Given the description of an element on the screen output the (x, y) to click on. 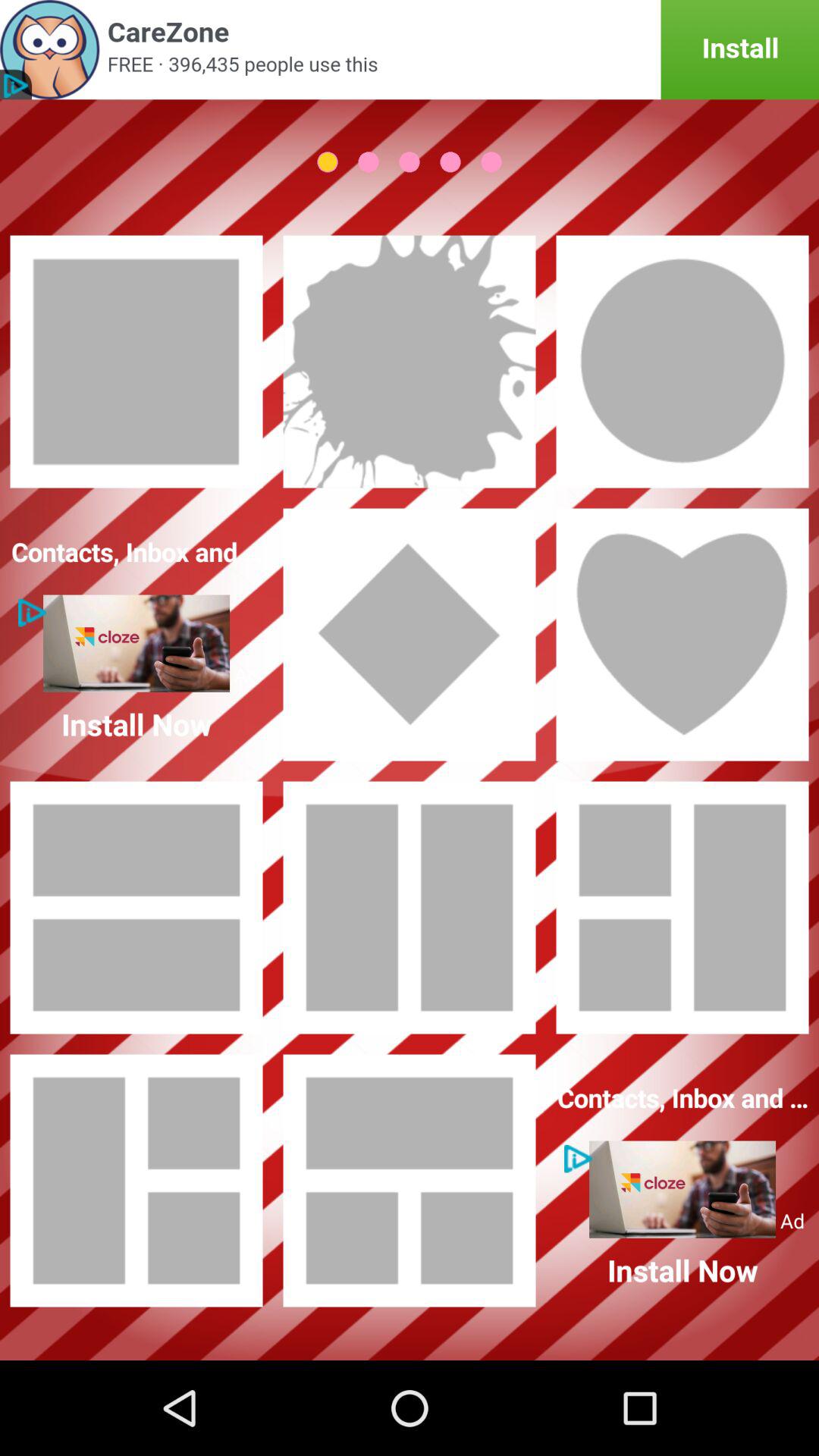
photo theme (409, 907)
